Given the description of an element on the screen output the (x, y) to click on. 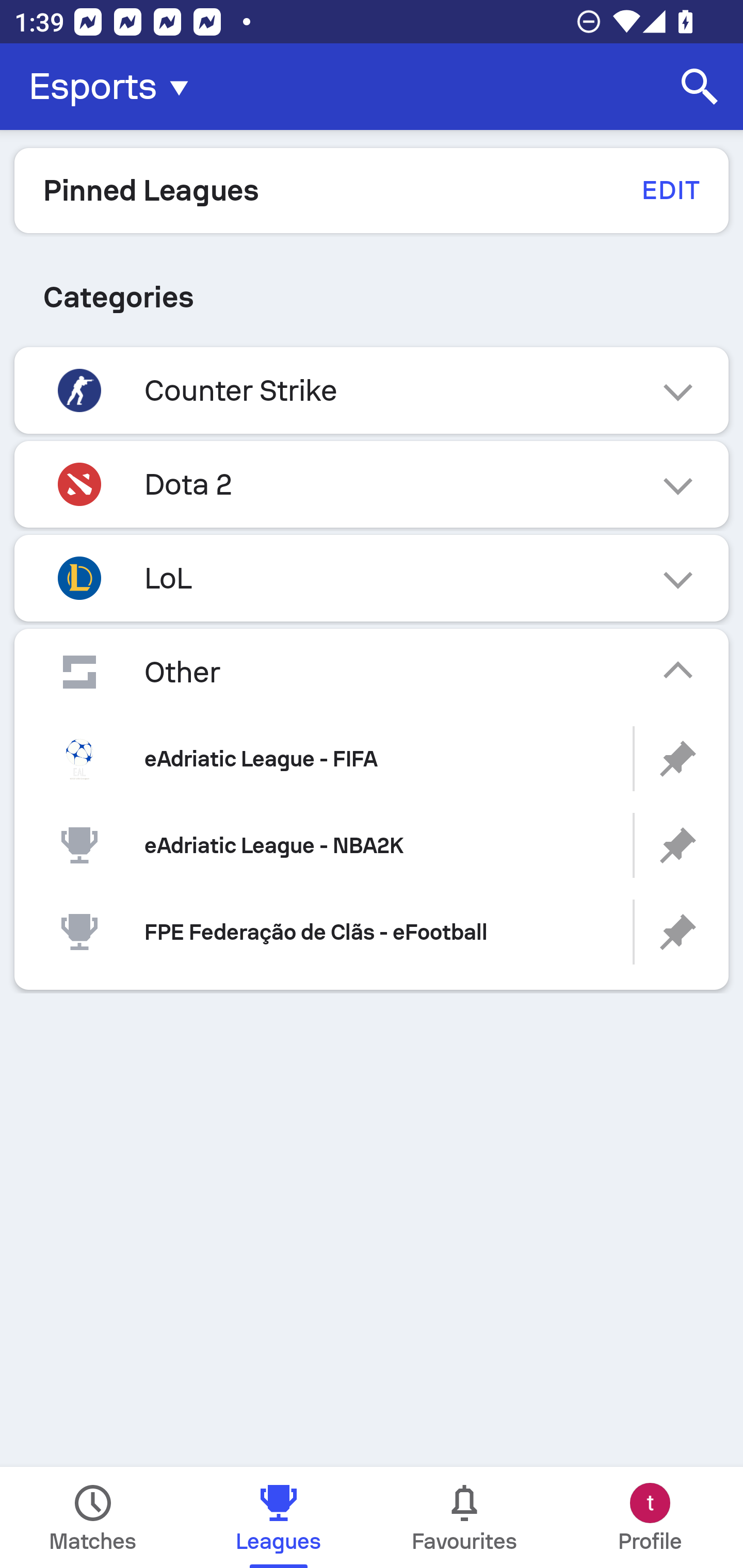
Esports (114, 86)
Search (699, 86)
Pinned Leagues EDIT (371, 190)
EDIT (670, 190)
Categories (371, 296)
Counter Strike (371, 390)
Dota 2 (371, 484)
LoL (371, 577)
Other (371, 671)
eAdriatic League - FIFA (371, 758)
eAdriatic League - NBA2K (371, 845)
FPE Federação de Clãs - eFootball (371, 932)
Matches (92, 1517)
Favourites (464, 1517)
Profile (650, 1517)
